Given the description of an element on the screen output the (x, y) to click on. 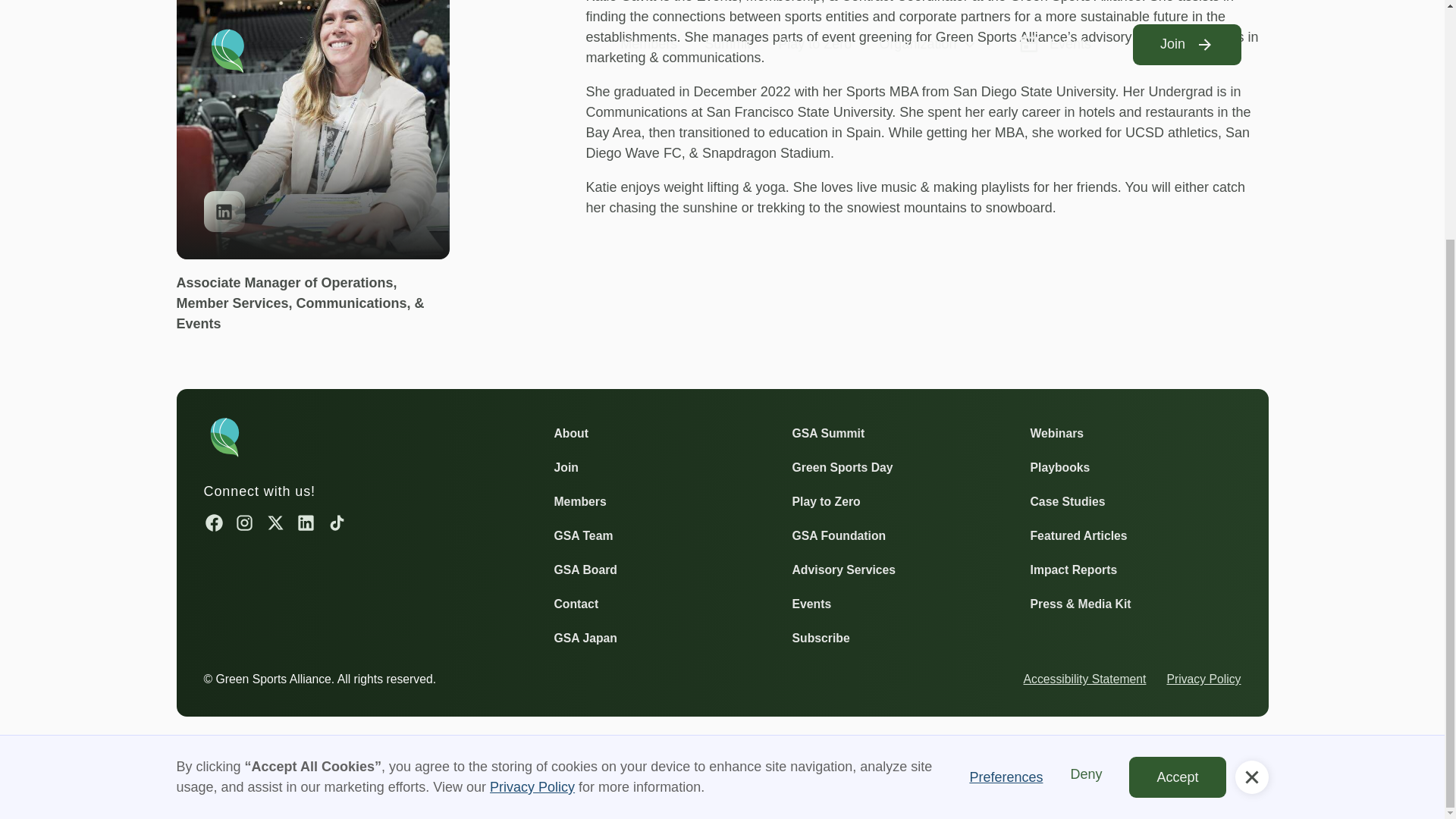
About (570, 433)
Members (579, 501)
GSA Board (584, 569)
GSA Team (582, 535)
Join (565, 467)
